Given the description of an element on the screen output the (x, y) to click on. 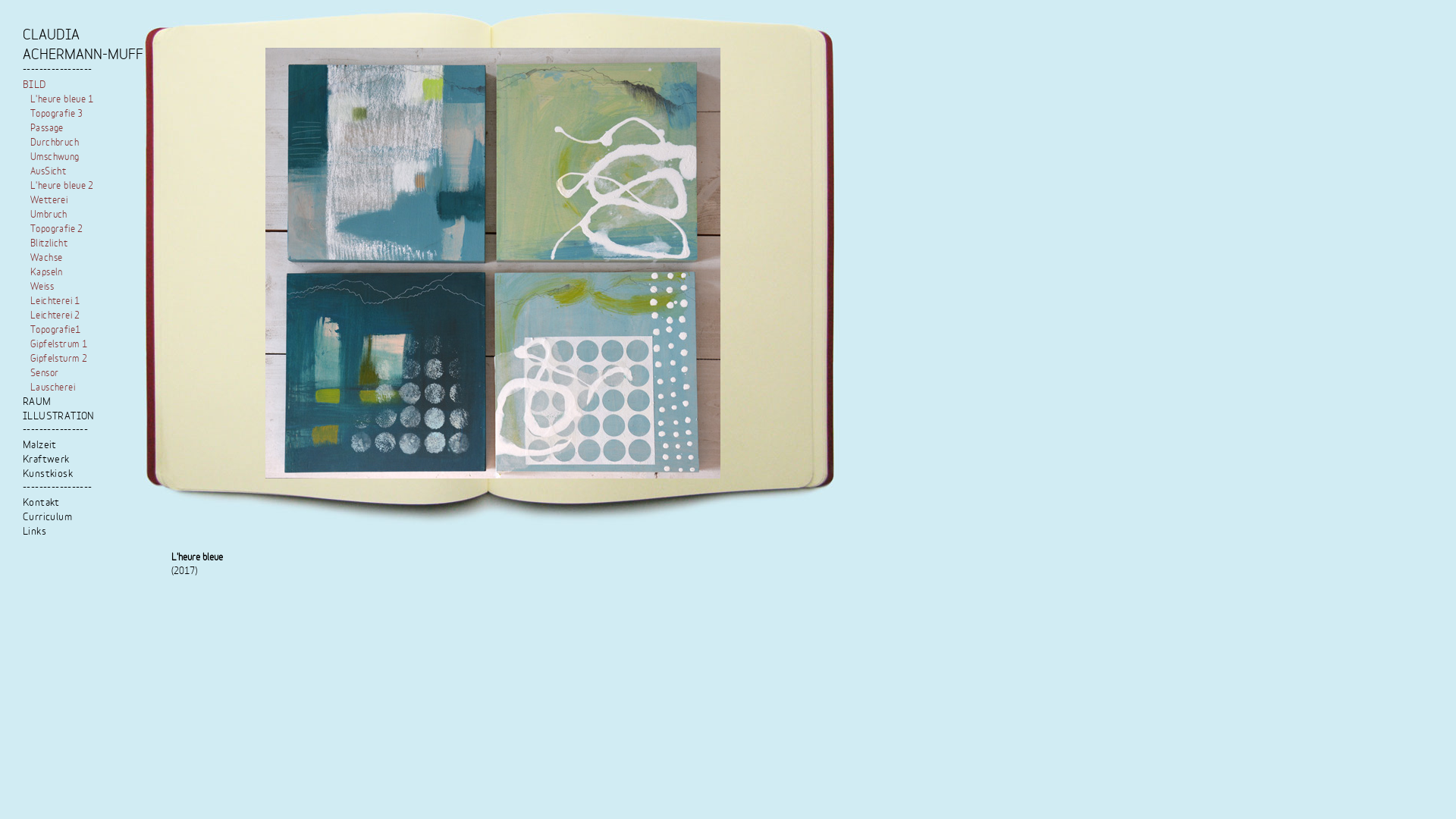
Durchbruch Element type: text (54, 142)
L'heure bleue 1 Element type: text (62, 98)
ACHERMANN-MUFF Element type: text (82, 55)
Topografie 3 Element type: text (56, 113)
Gipfelstrum 1 Element type: text (58, 343)
Kapseln Element type: text (46, 271)
L'heure bleue 2 Element type: text (62, 185)
Wetterei Element type: text (48, 199)
Weiss Element type: text (41, 286)
Blitzlicht Element type: text (48, 242)
AusSicht Element type: text (47, 170)
Umschwung Element type: text (54, 156)
Passage Element type: text (46, 127)
Topografie 2 Element type: text (56, 228)
ILLUSTRATION Element type: text (58, 416)
Lauscherei Element type: text (52, 387)
Kontakt Element type: text (40, 503)
CLAUDIA Element type: text (50, 35)
Wachse Element type: text (46, 257)
Leichterei 1 Element type: text (55, 300)
Leichterei 2 Element type: text (55, 315)
Kraftwerk Element type: text (45, 459)
Topografie1 Element type: text (55, 329)
BILD Element type: text (34, 85)
RAUM Element type: text (36, 402)
Links Element type: text (34, 531)
Umbruch Element type: text (48, 214)
Kunstkiosk Element type: text (47, 474)
Sensor Element type: text (44, 372)
Curriculum Element type: text (47, 517)
Malzeit Element type: text (39, 445)
Gipfelsturm 2 Element type: text (58, 358)
